Given the description of an element on the screen output the (x, y) to click on. 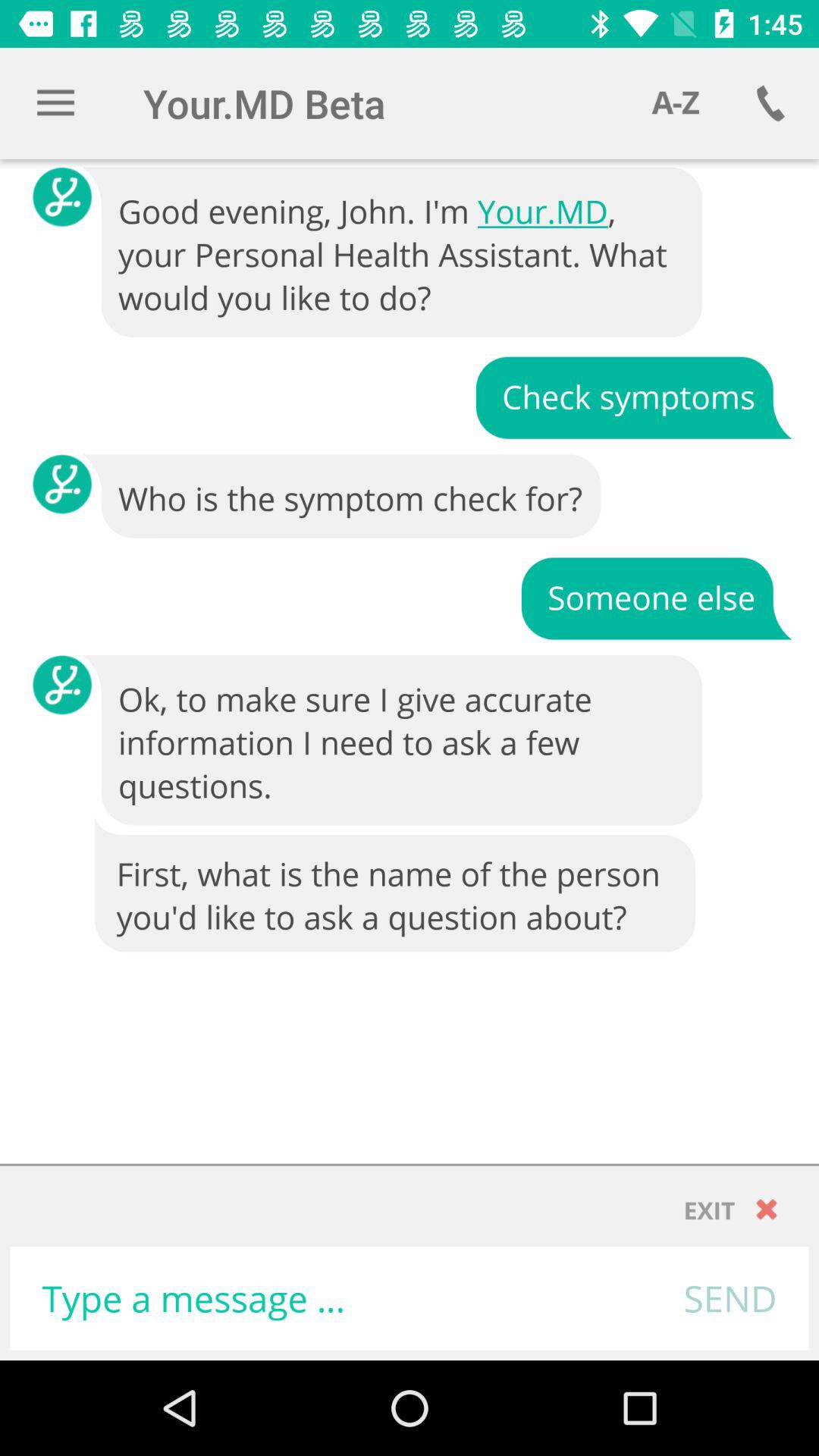
turn on the item below good evening john (633, 396)
